Given the description of an element on the screen output the (x, y) to click on. 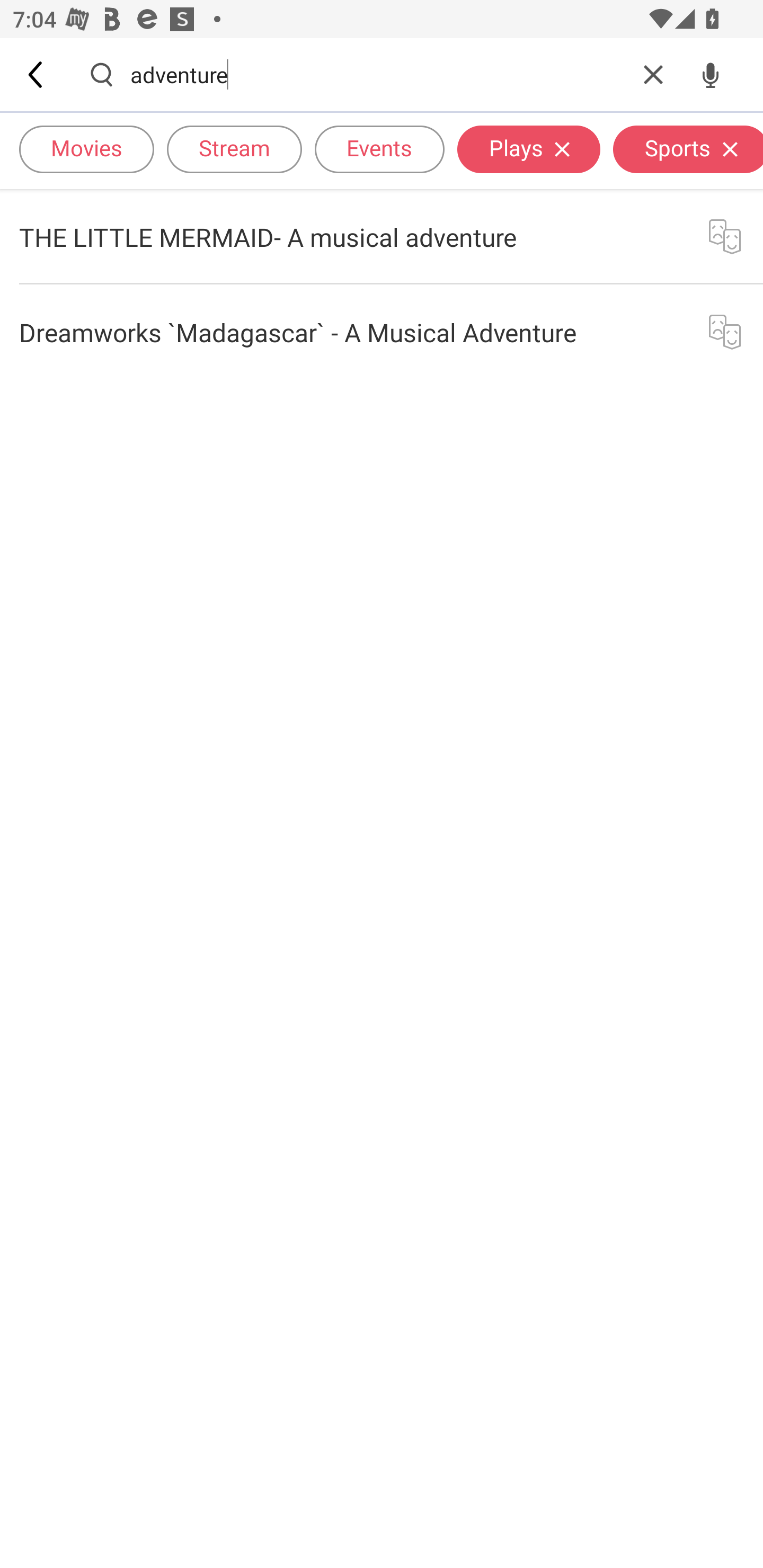
Back (36, 74)
adventure (377, 74)
Clear (653, 74)
Movies (86, 148)
Stream (234, 148)
Events (379, 148)
Plays Clear (528, 148)
Sports Clear (687, 148)
THE LITTLE MERMAID- A musical adventure (381, 236)
Dreamworks `Madagascar` - A Musical Adventure (381, 331)
